Given the description of an element on the screen output the (x, y) to click on. 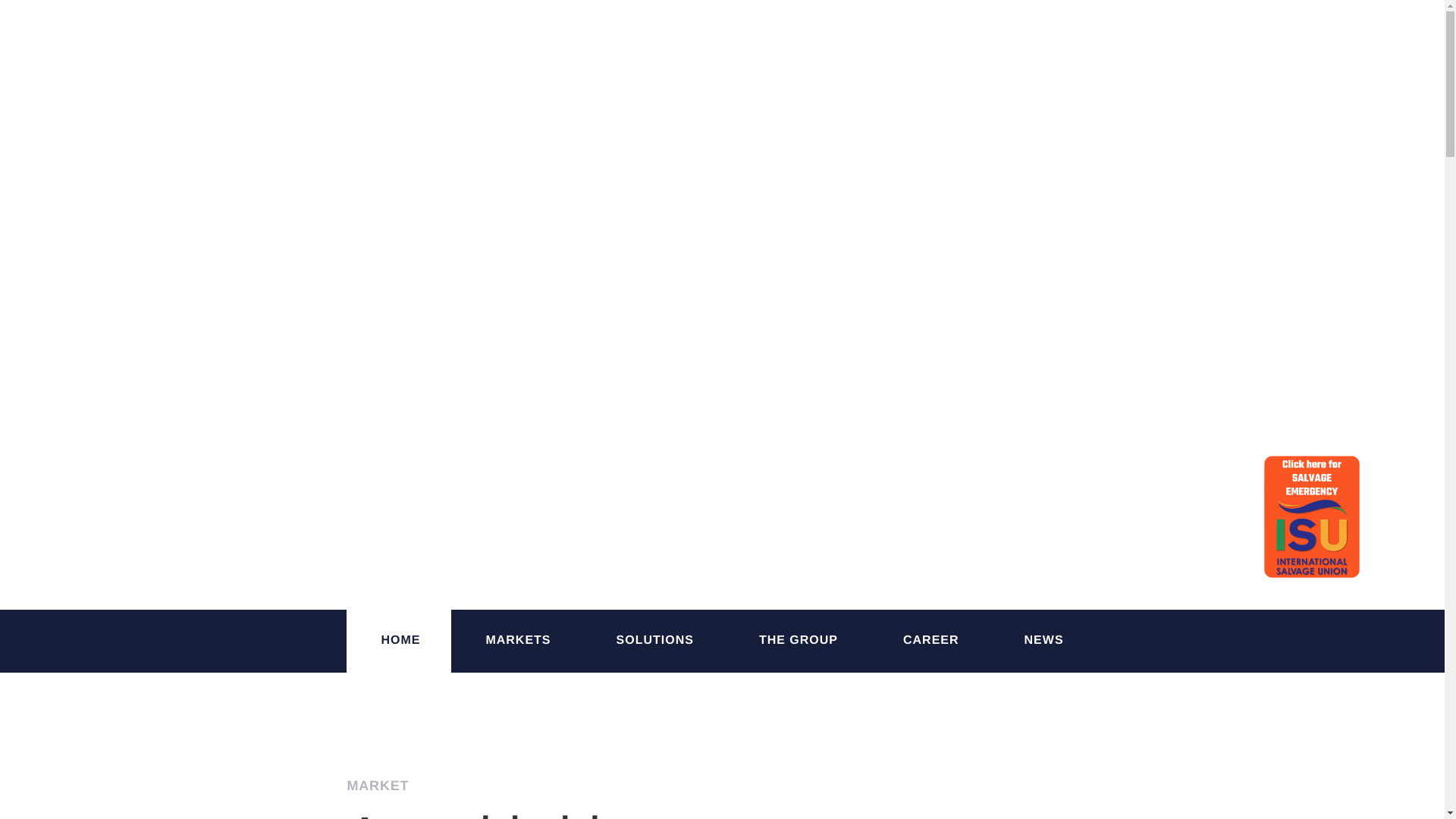
HOME (400, 640)
CAREER (930, 640)
SOLUTIONS (655, 640)
MARKETS (518, 640)
NEWS (1043, 640)
THE GROUP (798, 640)
